Given the description of an element on the screen output the (x, y) to click on. 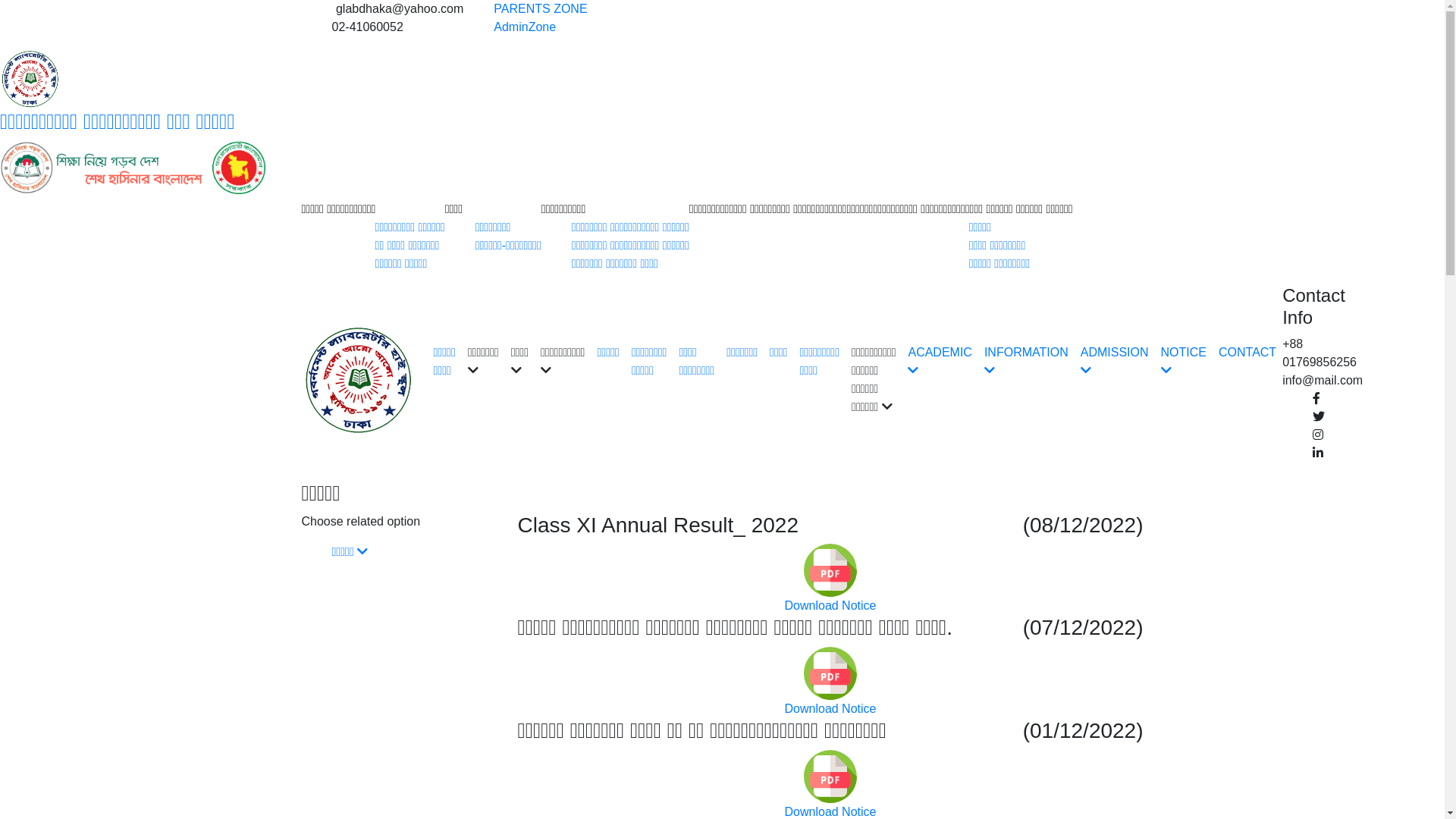
ADMISSION Element type: text (1114, 361)
CONTACT Element type: text (1247, 352)
ACADEMIC Element type: text (939, 361)
AdminZone Element type: text (524, 26)
PARENTS ZONE Element type: text (539, 8)
Download Notice Element type: text (830, 690)
Download Notice Element type: text (830, 587)
Download Notice Element type: text (830, 793)
NOTICE Element type: text (1183, 361)
INFORMATION Element type: text (1026, 361)
